Given the description of an element on the screen output the (x, y) to click on. 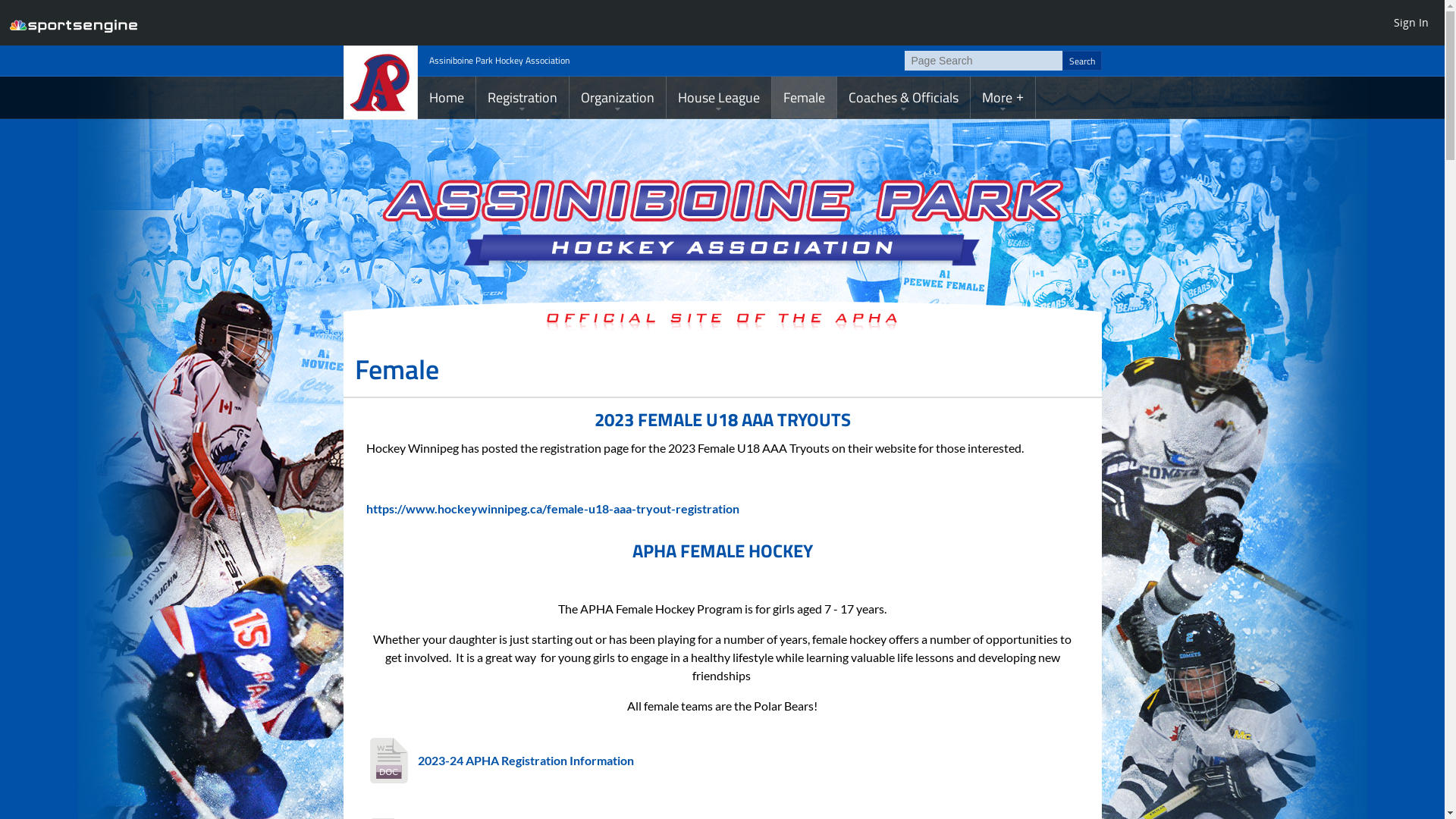
Female Element type: text (803, 97)
Sign In Element type: text (1410, 22)
Organization Element type: text (616, 97)
Home Element type: text (445, 97)
Registration Element type: text (522, 97)
House League Element type: text (717, 97)
More Element type: text (1002, 97)
2023-24 APHA Registration Information Element type: text (525, 760)
SportsEngine Element type: text (73, 22)
Coaches & Officials Element type: text (903, 97)
